Given the description of an element on the screen output the (x, y) to click on. 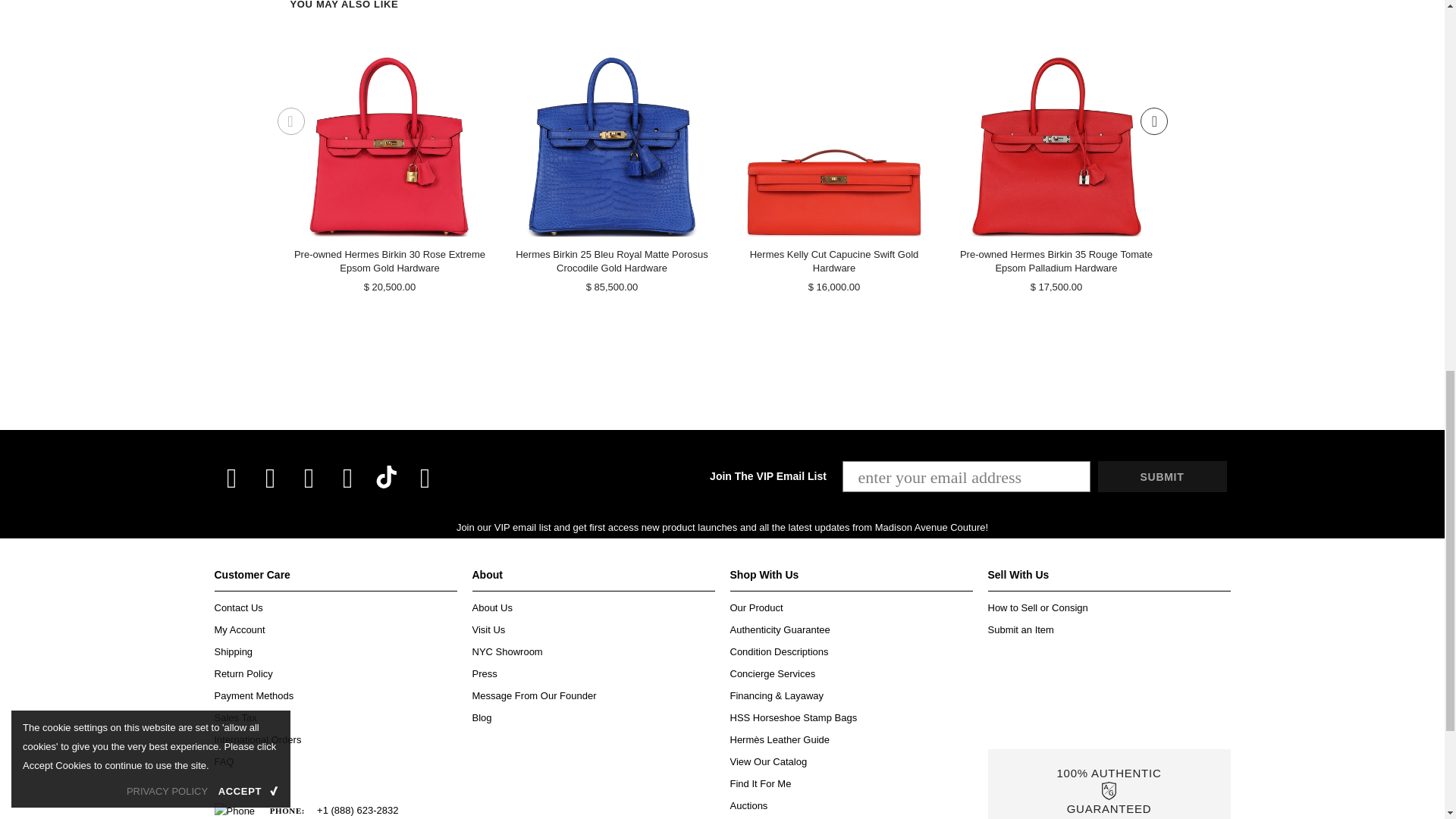
Twitter (269, 478)
Contact Us (238, 608)
Return Policy (243, 673)
Instagram (309, 478)
Pinterest (347, 478)
My Account (239, 629)
TikTok (386, 476)
Submit (1162, 476)
Facebook (232, 478)
YouTube (424, 478)
Shipping (232, 651)
